Given the description of an element on the screen output the (x, y) to click on. 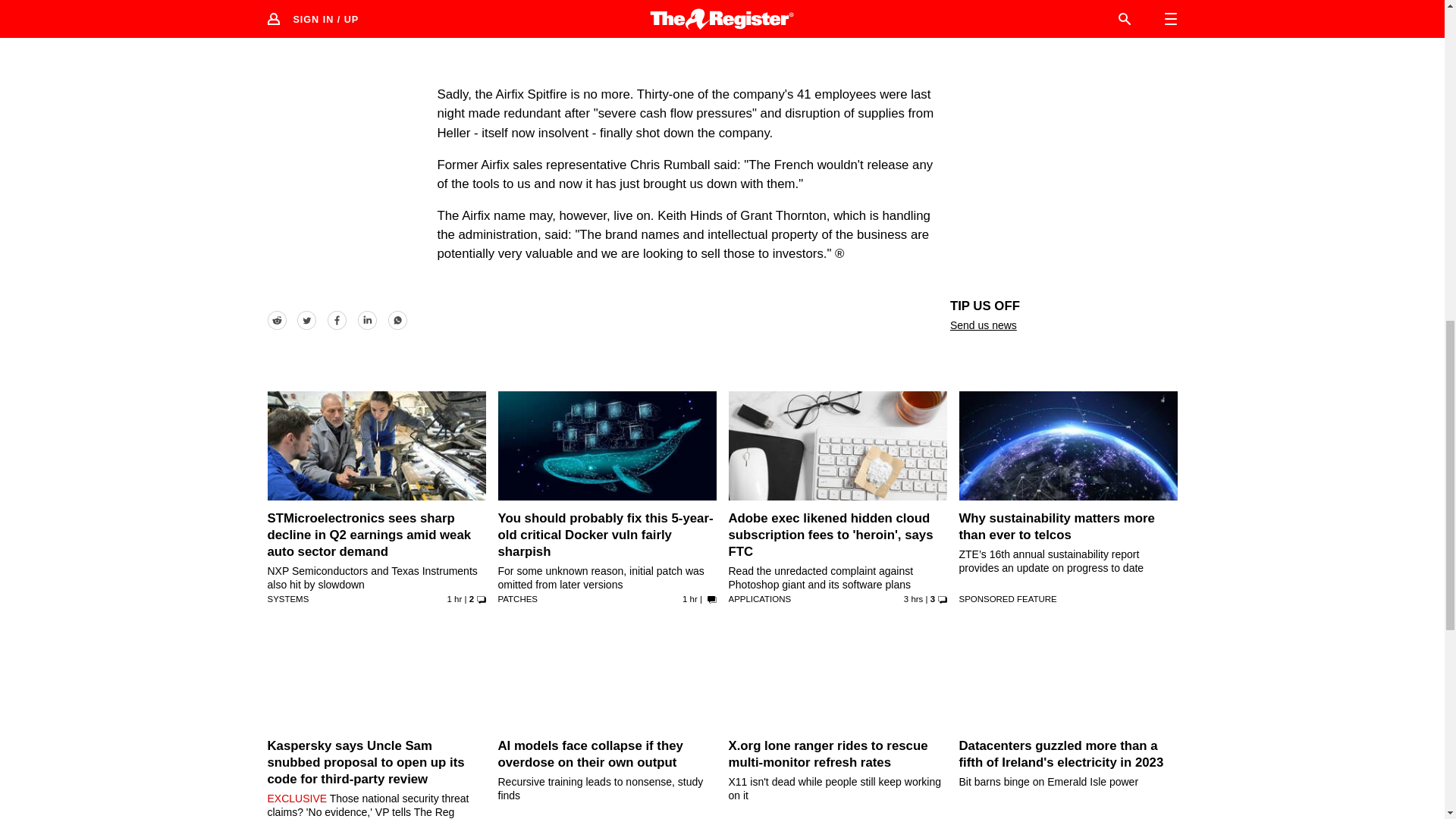
25 Jul 2024 13:4 (913, 598)
25 Jul 2024 13:46 (689, 598)
25 Jul 2024 14:27 (454, 598)
